Given the description of an element on the screen output the (x, y) to click on. 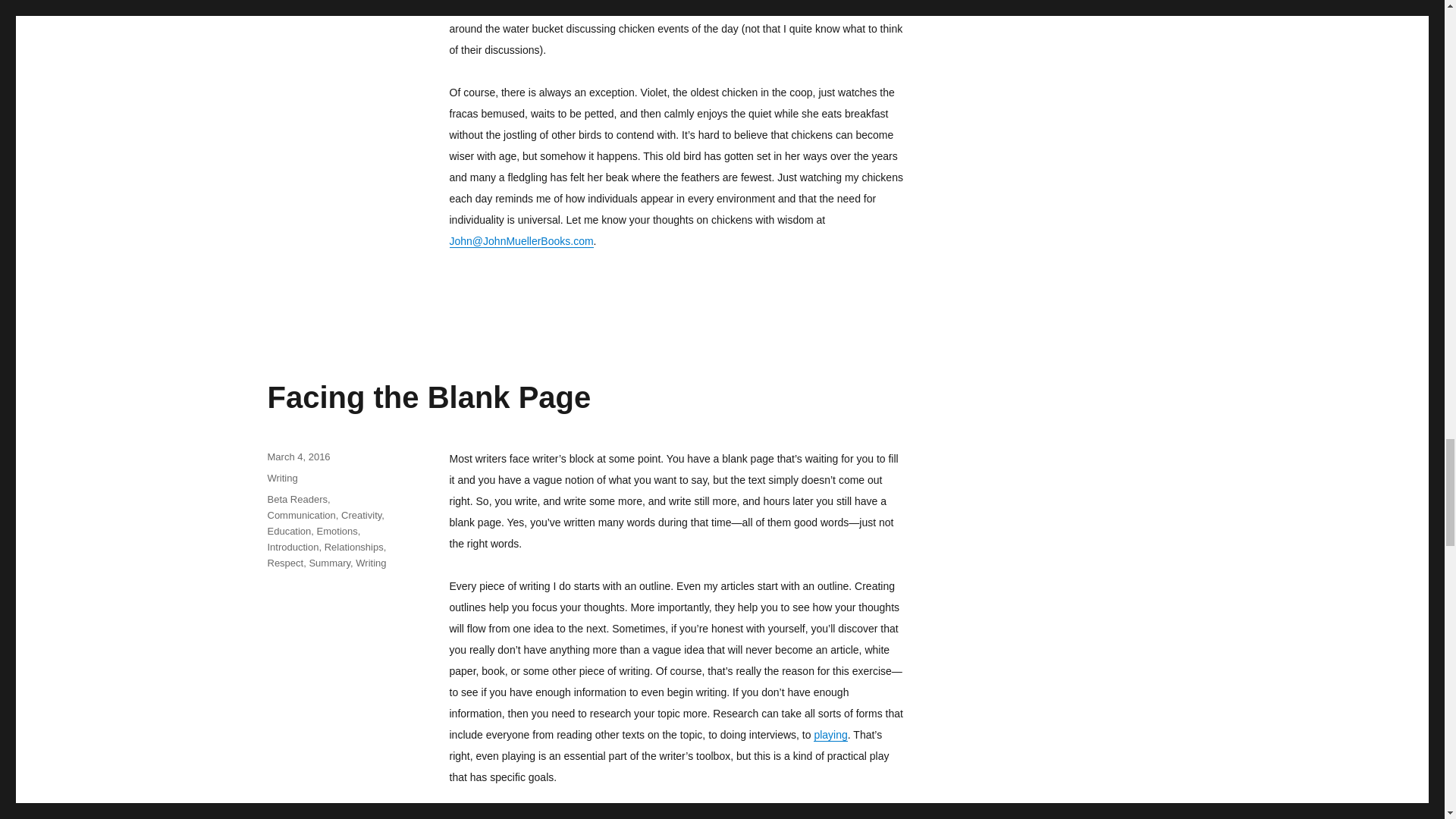
playing (830, 734)
Contact me about my book. (520, 241)
Facing the Blank Page (428, 397)
